Given the description of an element on the screen output the (x, y) to click on. 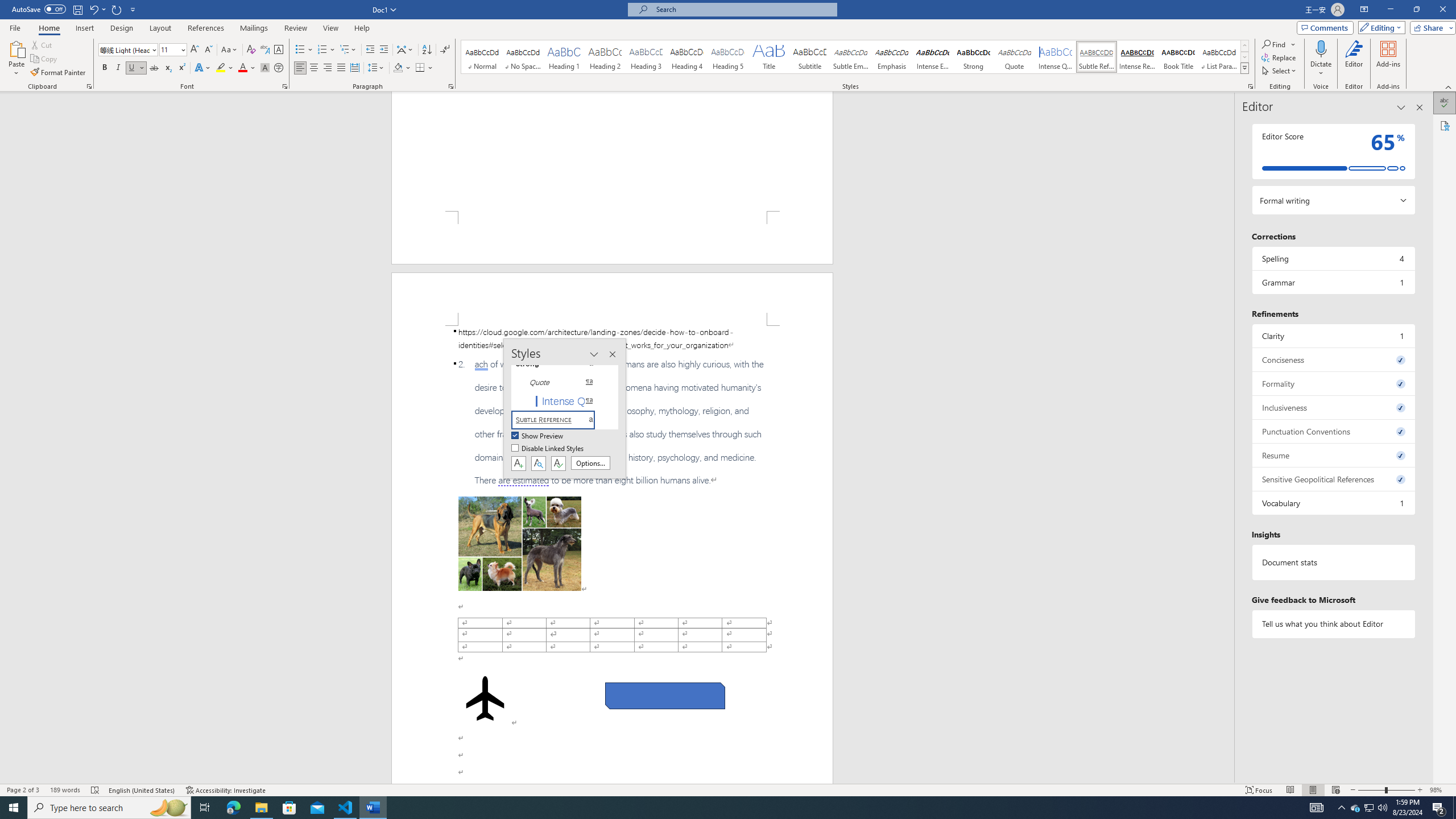
Intense Emphasis (932, 56)
Accessibility (1444, 125)
Formality, 0 issues. Press space or enter to review items. (1333, 383)
